Given the description of an element on the screen output the (x, y) to click on. 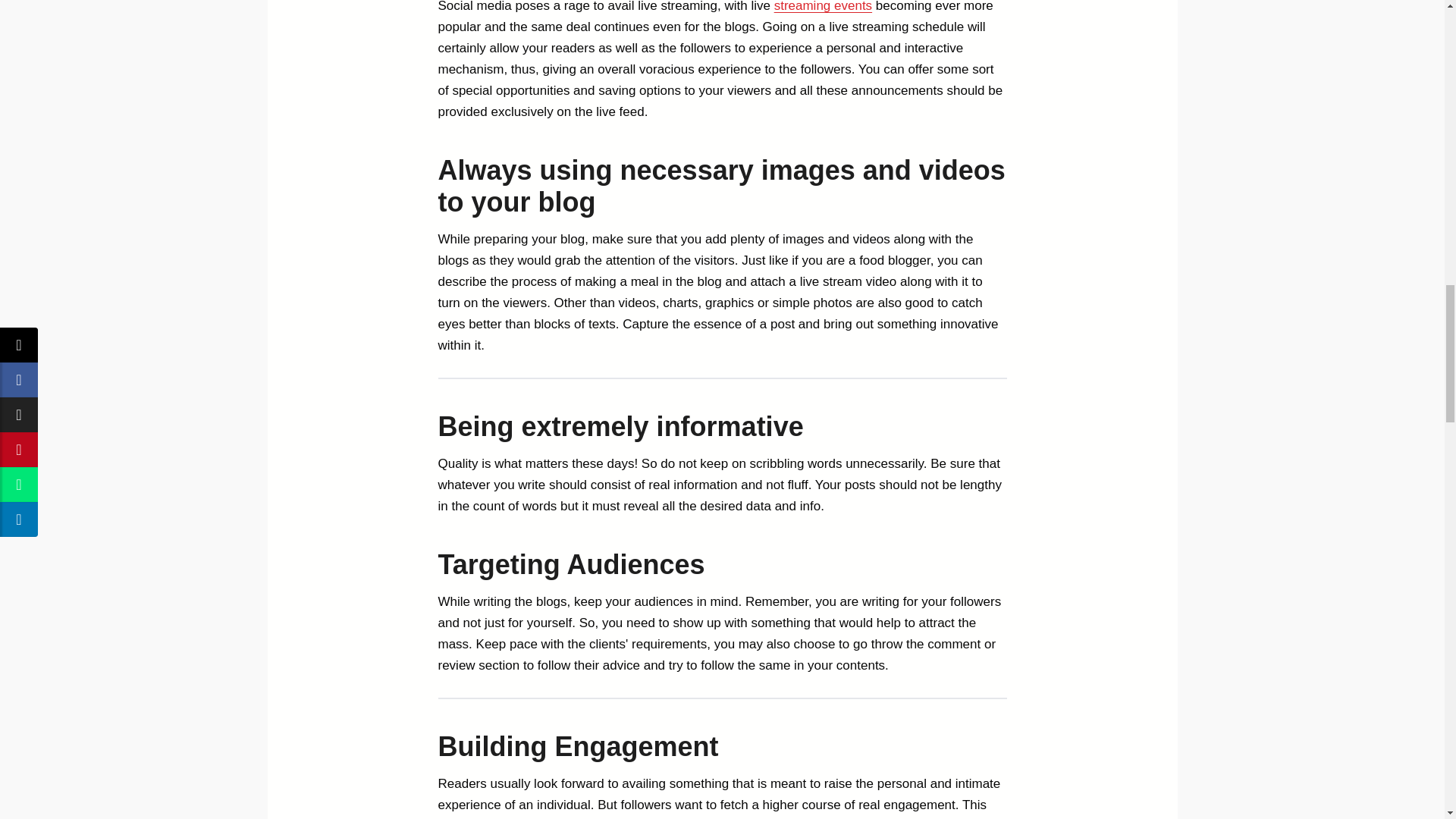
streaming events (823, 6)
